Given the description of an element on the screen output the (x, y) to click on. 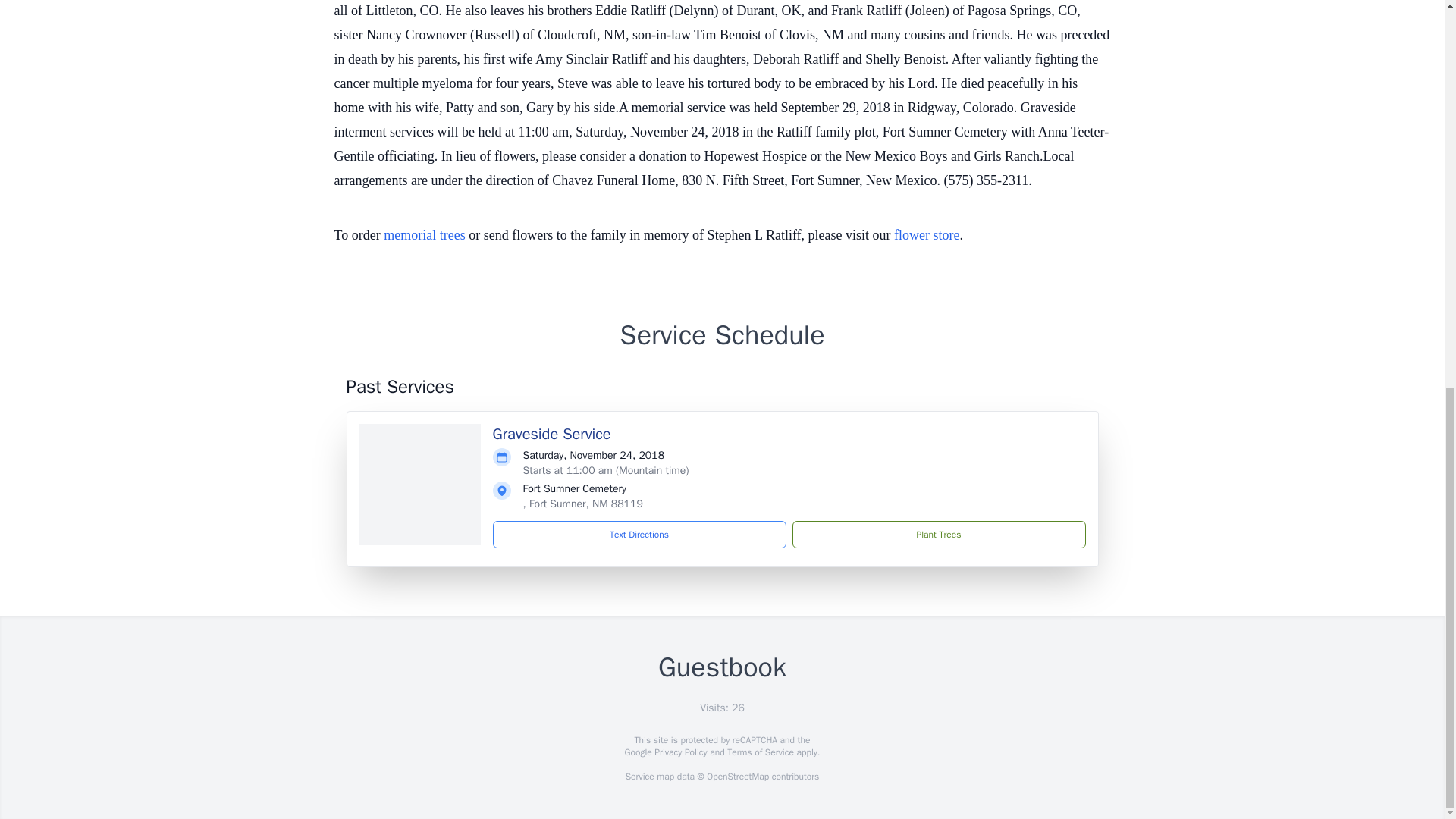
Plant Trees (938, 533)
Text Directions (639, 533)
OpenStreetMap (737, 776)
Terms of Service (759, 752)
flower store (926, 234)
, Fort Sumner, NM 88119 (582, 503)
memorial trees (424, 234)
Privacy Policy (679, 752)
